Given the description of an element on the screen output the (x, y) to click on. 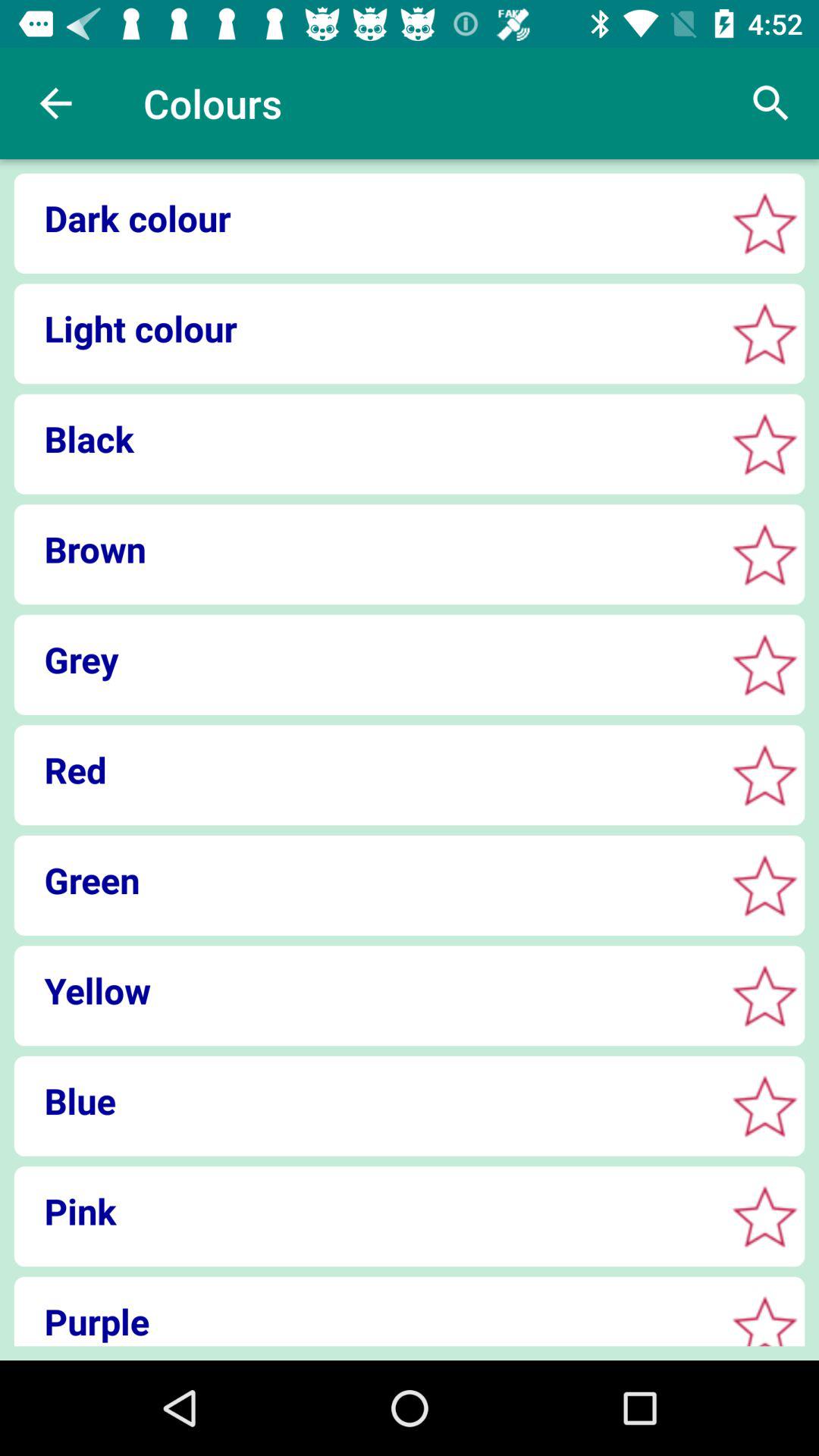
bookmark (764, 775)
